Given the description of an element on the screen output the (x, y) to click on. 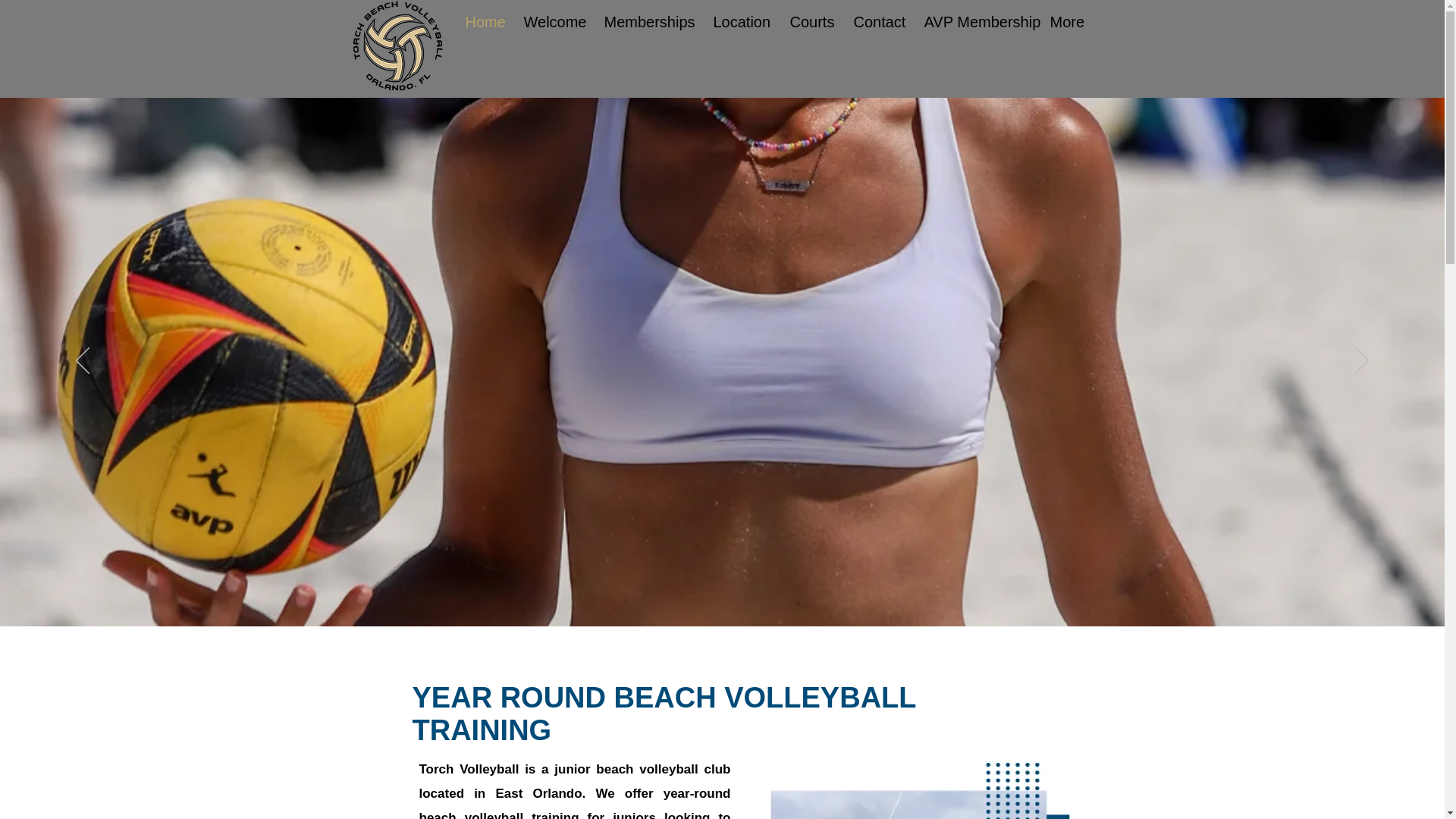
AVP Membership (975, 21)
Home (482, 21)
Contact (876, 21)
Circle Logo UCF Black font.png (397, 45)
Location (739, 21)
Welcome (552, 21)
